Given the description of an element on the screen output the (x, y) to click on. 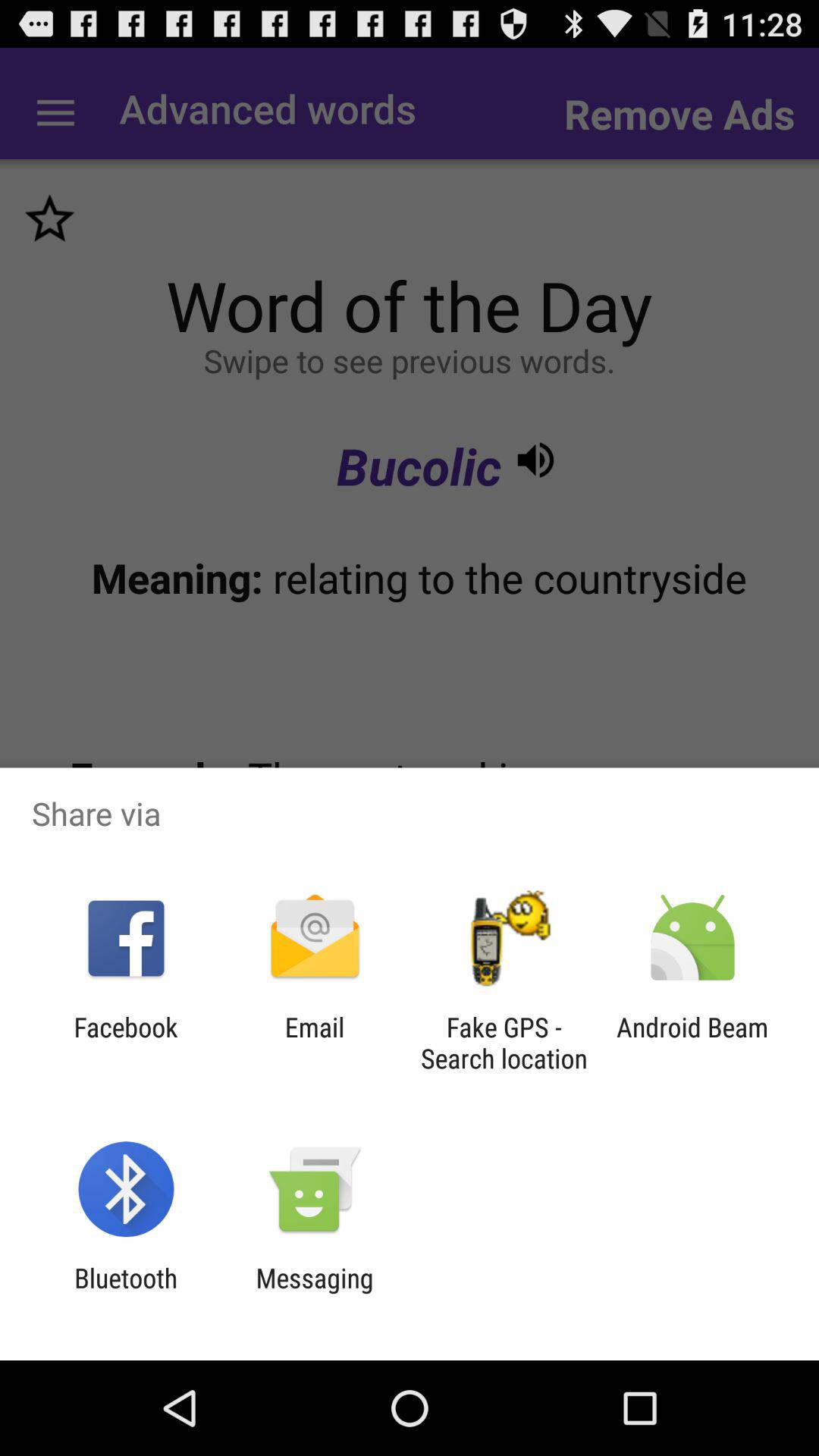
choose the app next to fake gps search (692, 1042)
